Given the description of an element on the screen output the (x, y) to click on. 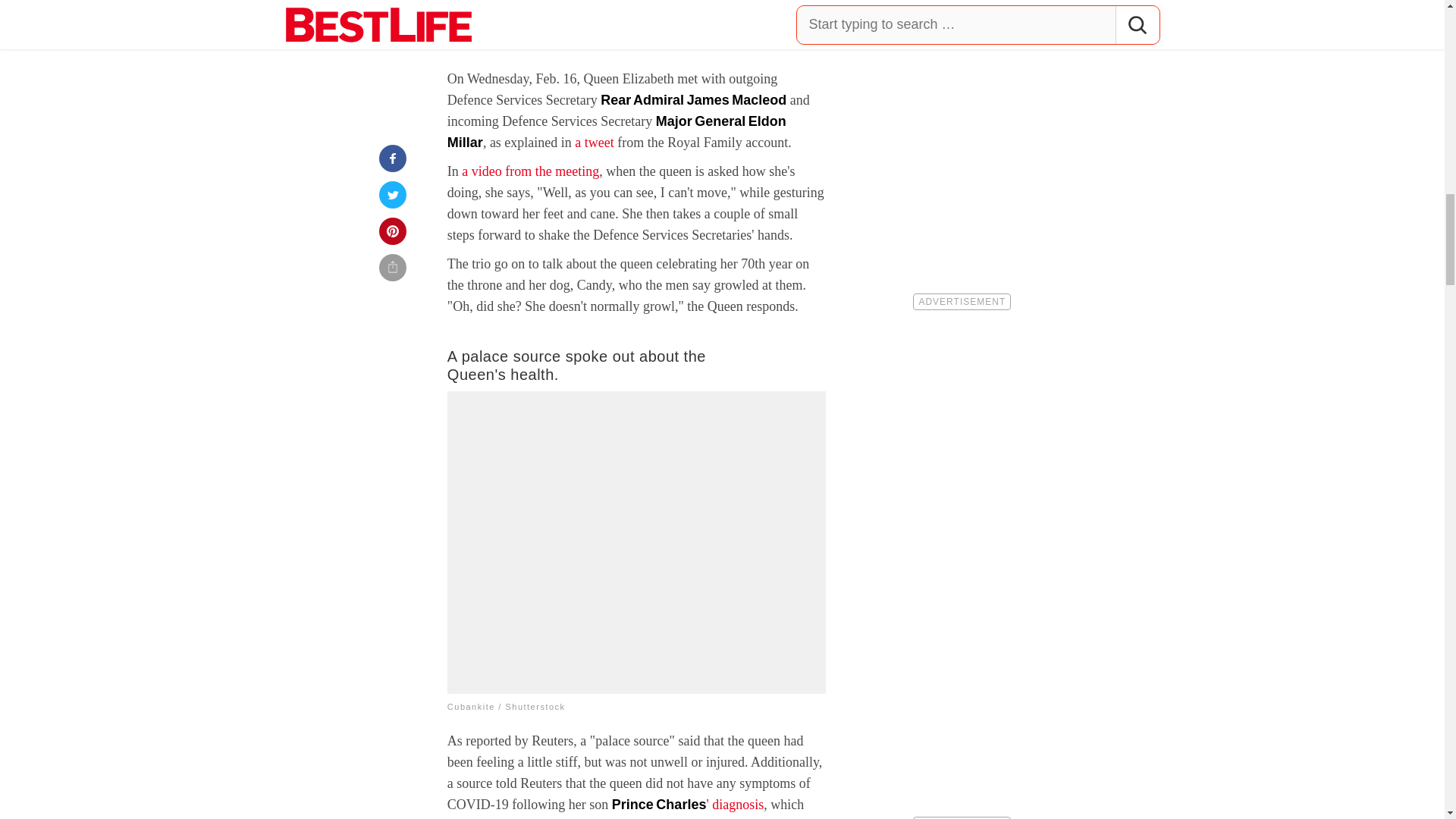
a tweet (593, 142)
a video from the meeting (529, 171)
Prince Charles' diagnosis (686, 804)
